Given the description of an element on the screen output the (x, y) to click on. 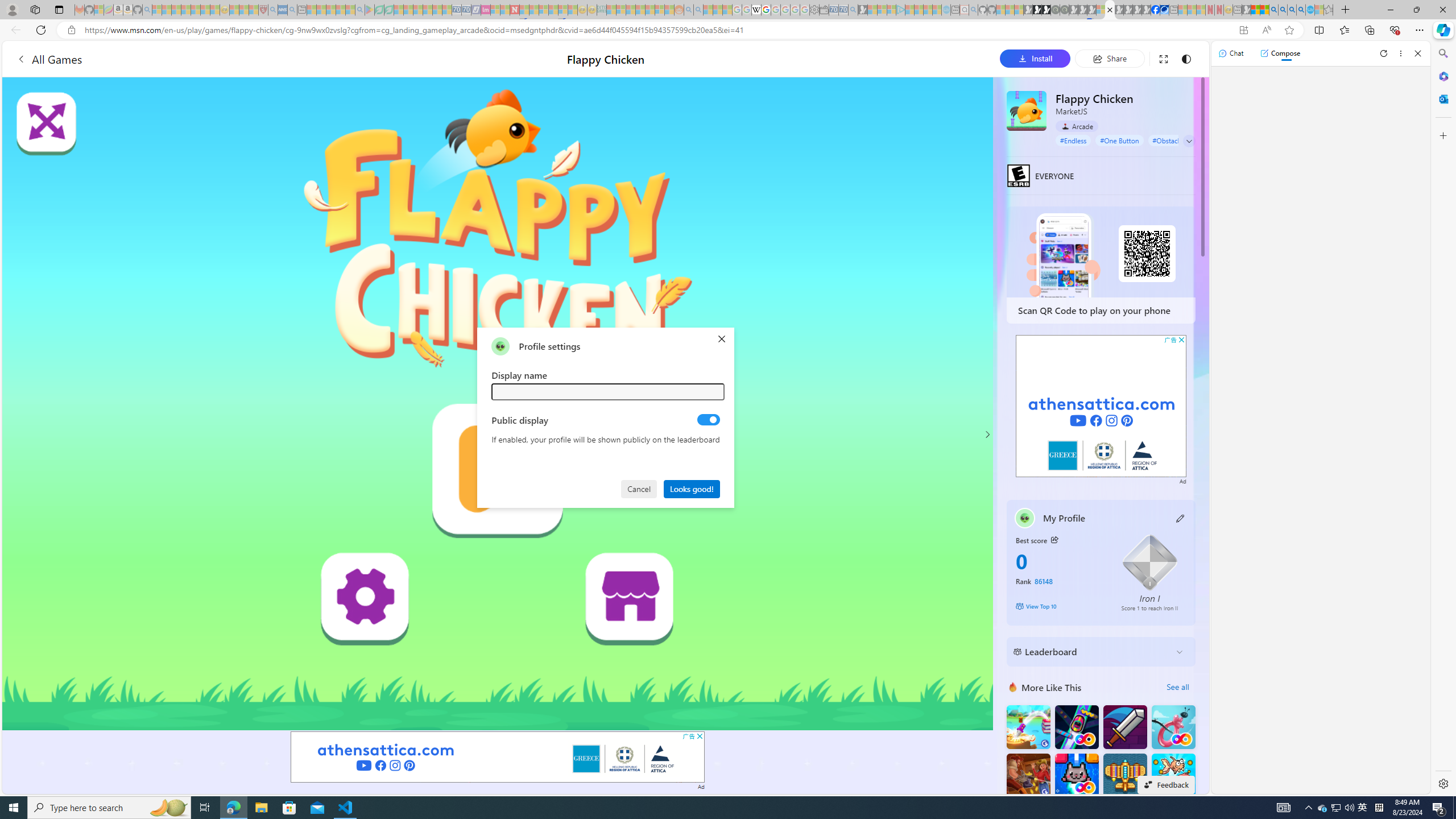
Class: control (1188, 140)
AutomationID: cbb (1181, 339)
Looks good! (691, 488)
#Obstacle Course (1178, 140)
